Given the description of an element on the screen output the (x, y) to click on. 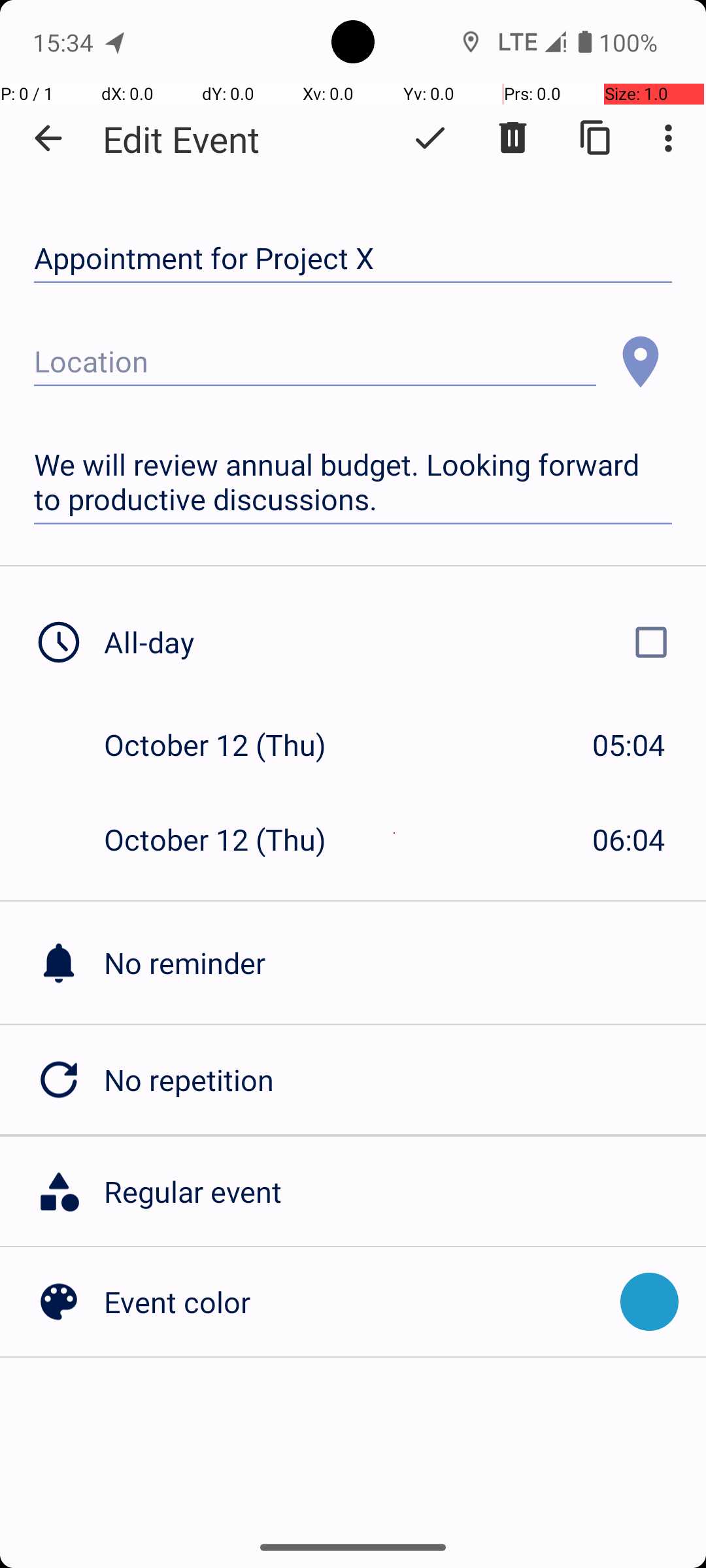
We will review annual budget. Looking forward to productive discussions. Element type: android.widget.EditText (352, 482)
October 12 (Thu) Element type: android.widget.TextView (228, 744)
05:04 Element type: android.widget.TextView (628, 744)
06:04 Element type: android.widget.TextView (628, 838)
